Given the description of an element on the screen output the (x, y) to click on. 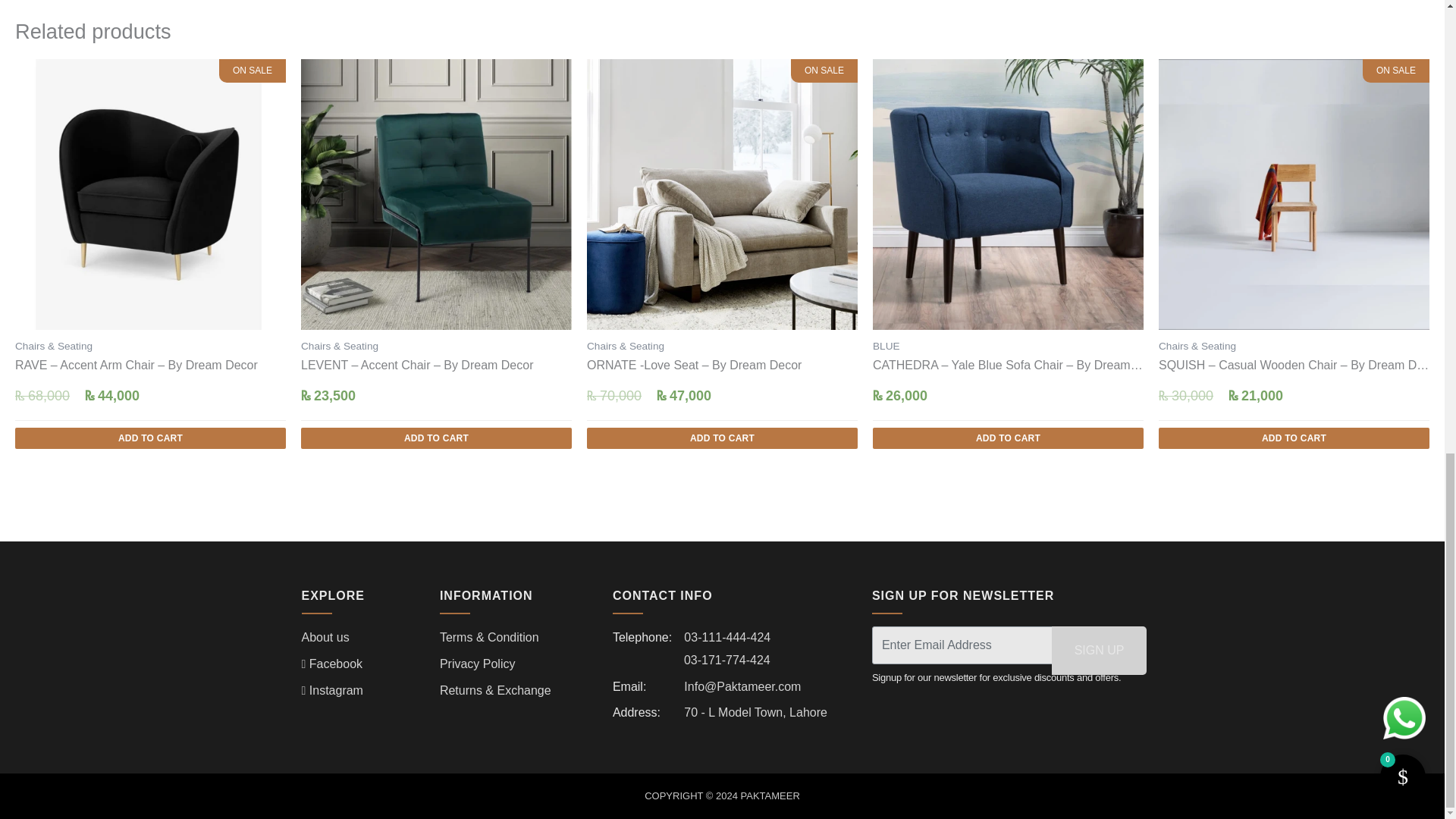
Sign Up (1099, 650)
